Given the description of an element on the screen output the (x, y) to click on. 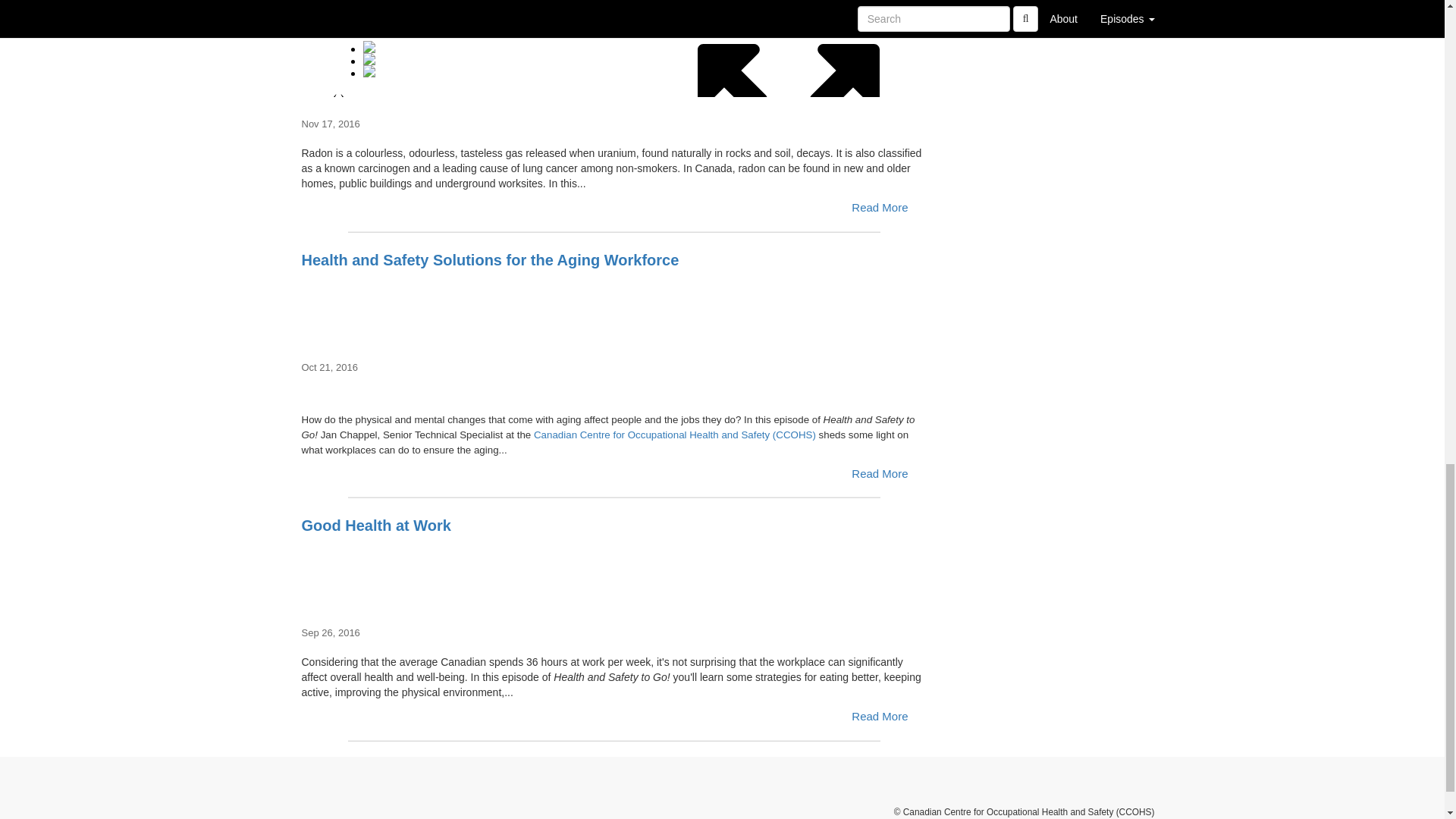
Recognizing Radon (614, 62)
Health and Safety Solutions for the Aging Workforce (614, 305)
Good Health at Work (614, 571)
